Given the description of an element on the screen output the (x, y) to click on. 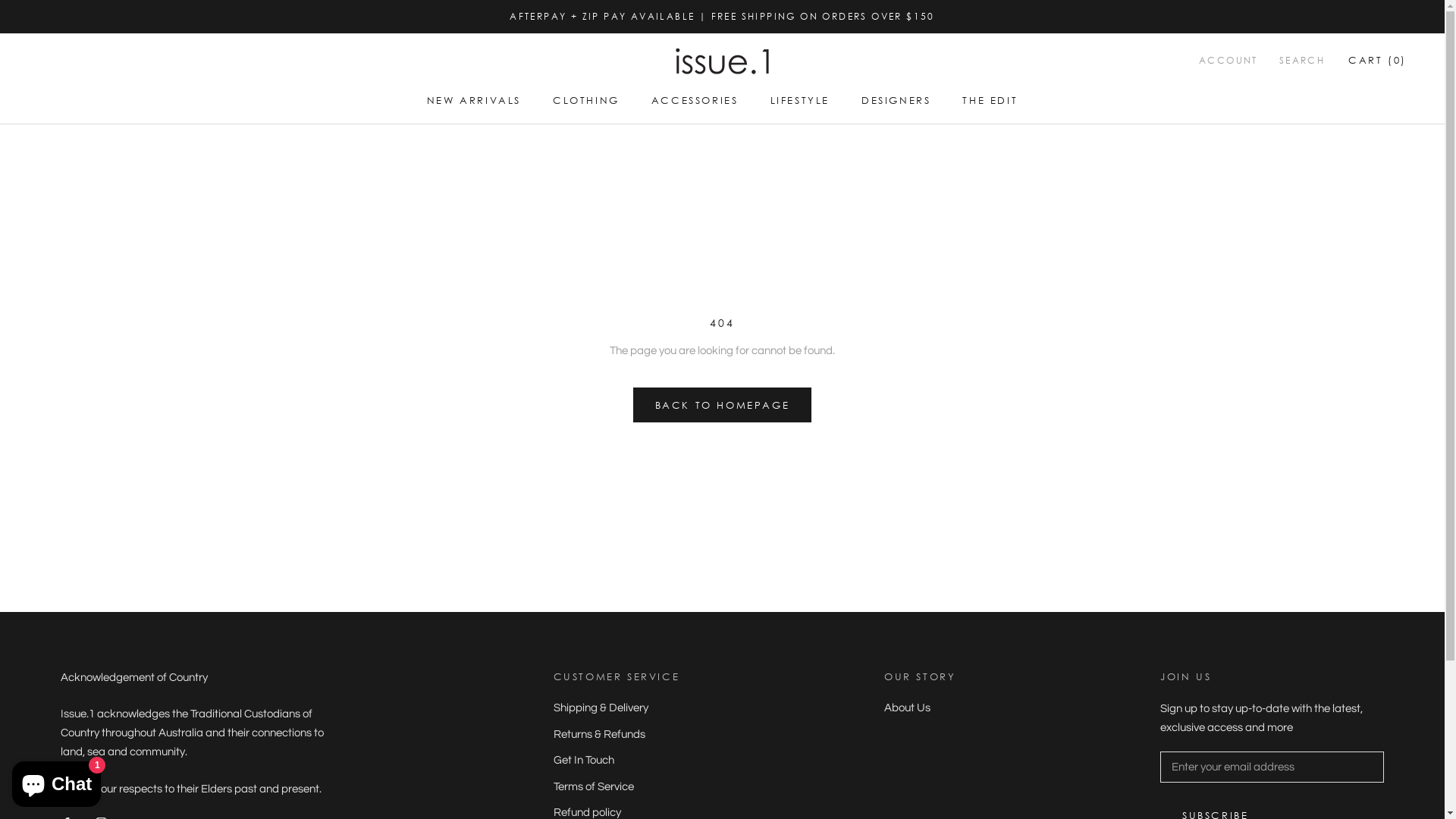
ACCOUNT Element type: text (1228, 60)
Returns & Refunds Element type: text (616, 734)
LIFESTYLE Element type: text (799, 100)
Shopify online store chat Element type: hover (56, 780)
About Us Element type: text (919, 708)
SEARCH Element type: text (1301, 60)
Terms of Service Element type: text (616, 787)
NEW ARRIVALS
NEW ARRIVALS Element type: text (473, 100)
BACK TO HOMEPAGE Element type: text (722, 404)
ACCESSORIES Element type: text (694, 100)
CART (0) Element type: text (1377, 59)
Shipping & Delivery Element type: text (616, 708)
THE EDIT Element type: text (989, 100)
CLOTHING
CLOTHING Element type: text (585, 100)
Get In Touch Element type: text (616, 760)
DESIGNERS
DESIGNERS Element type: text (895, 100)
